Given the description of an element on the screen output the (x, y) to click on. 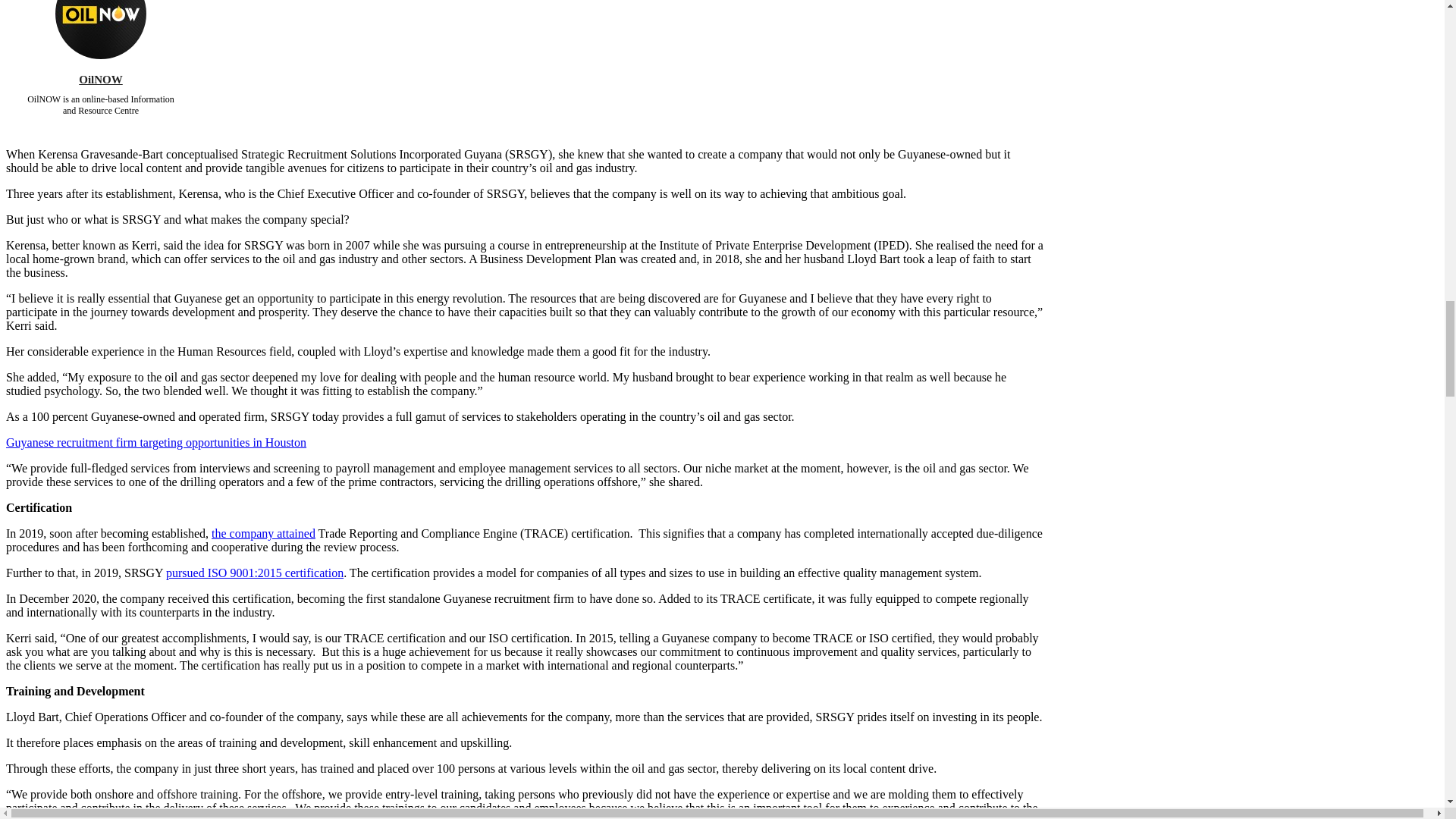
OilNOW (101, 29)
